Given the description of an element on the screen output the (x, y) to click on. 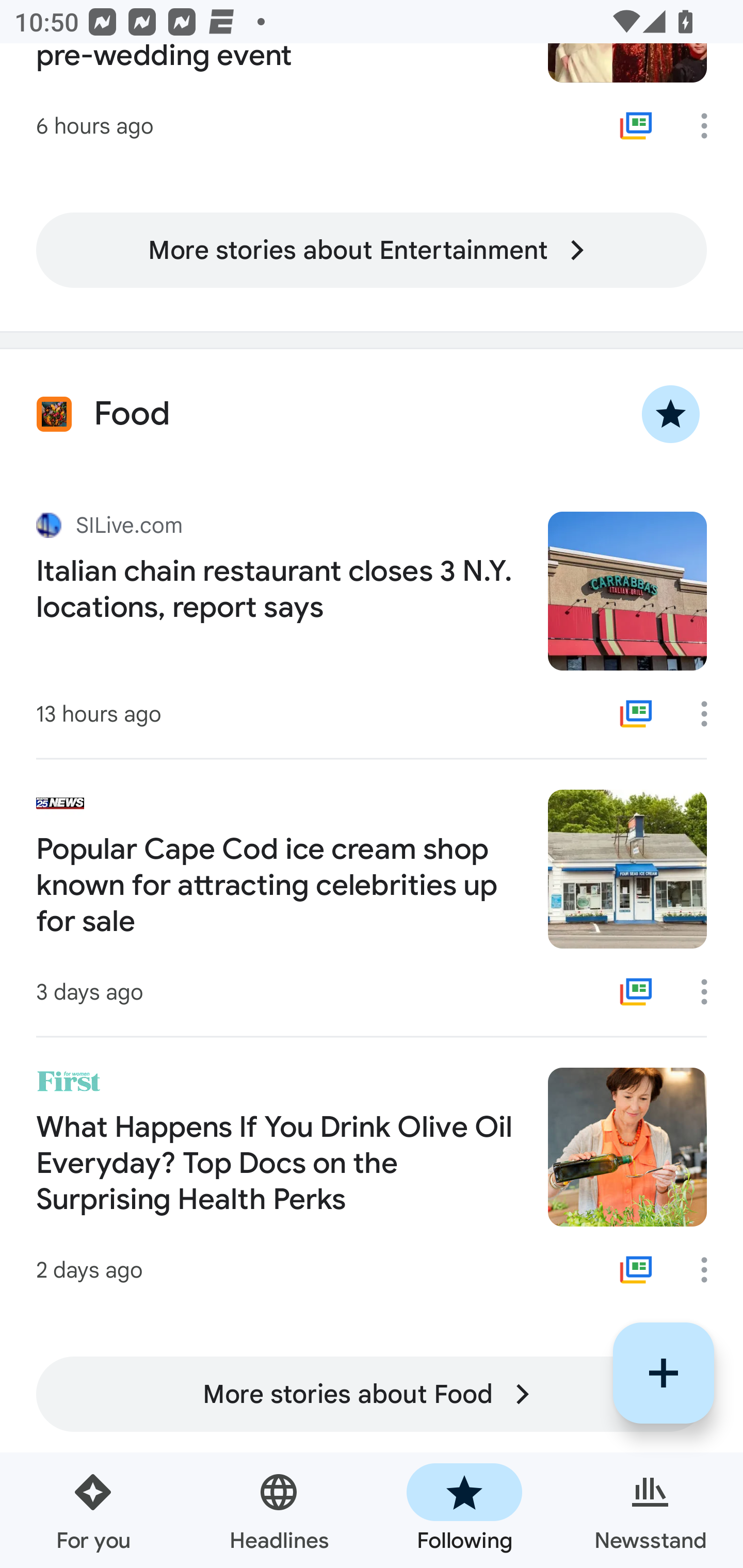
More options (711, 126)
More stories about Entertainment (371, 250)
Food Food Unfollow (371, 414)
Unfollow (670, 414)
More options (711, 714)
More options (711, 991)
More options (711, 1270)
Follow (663, 1372)
More stories about Food (371, 1393)
For you (92, 1509)
Headlines (278, 1509)
Following (464, 1509)
Newsstand (650, 1509)
